Given the description of an element on the screen output the (x, y) to click on. 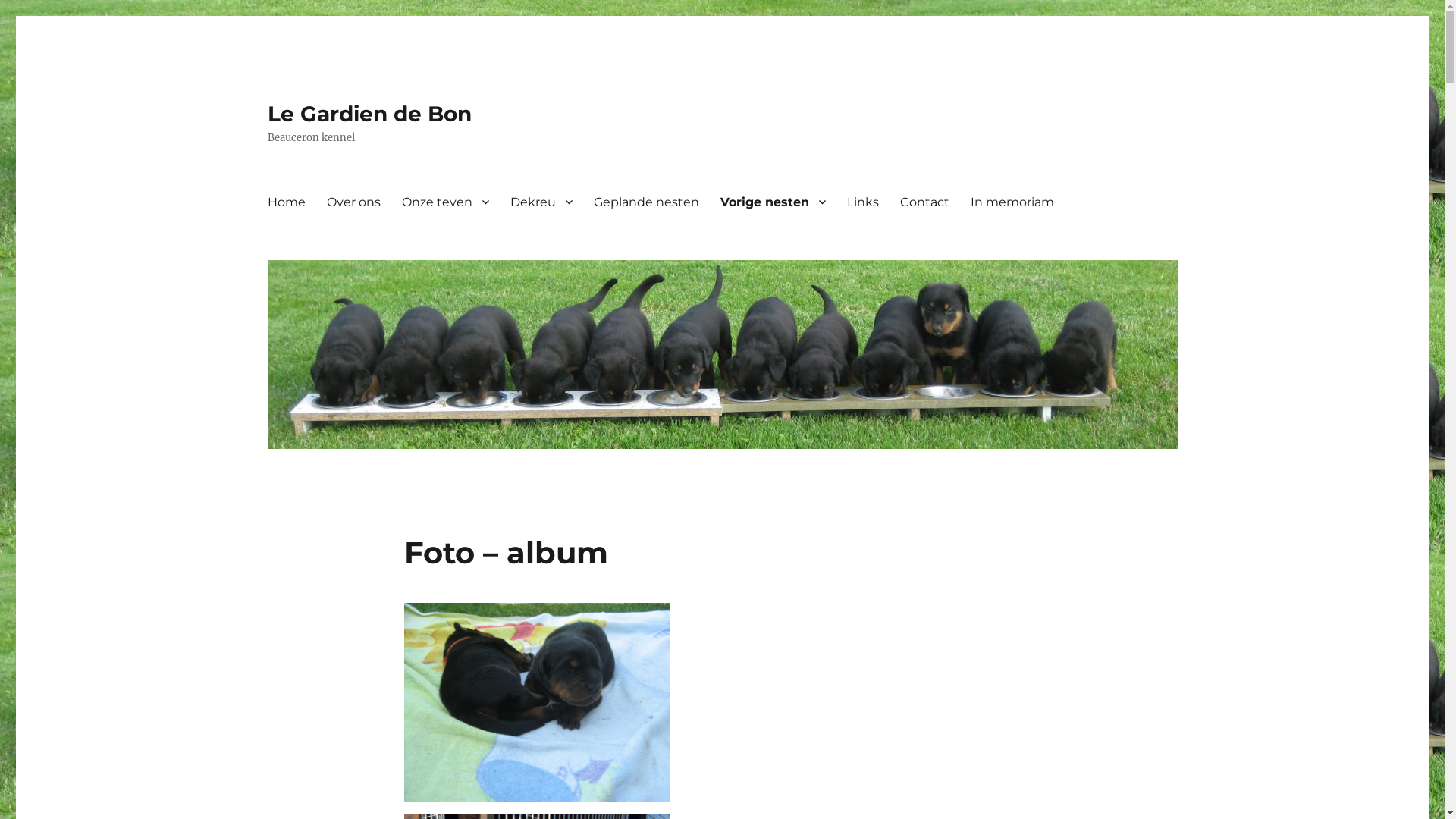
Home Element type: text (285, 201)
Geplande nesten Element type: text (645, 201)
Vorige nesten Element type: text (772, 201)
Dekreu Element type: text (540, 201)
Onze teven Element type: text (445, 201)
Over ons Element type: text (352, 201)
Le Gardien de Bon Element type: text (368, 113)
In memoriam Element type: text (1012, 201)
Contact Element type: text (923, 201)
Links Element type: text (861, 201)
